Given the description of an element on the screen output the (x, y) to click on. 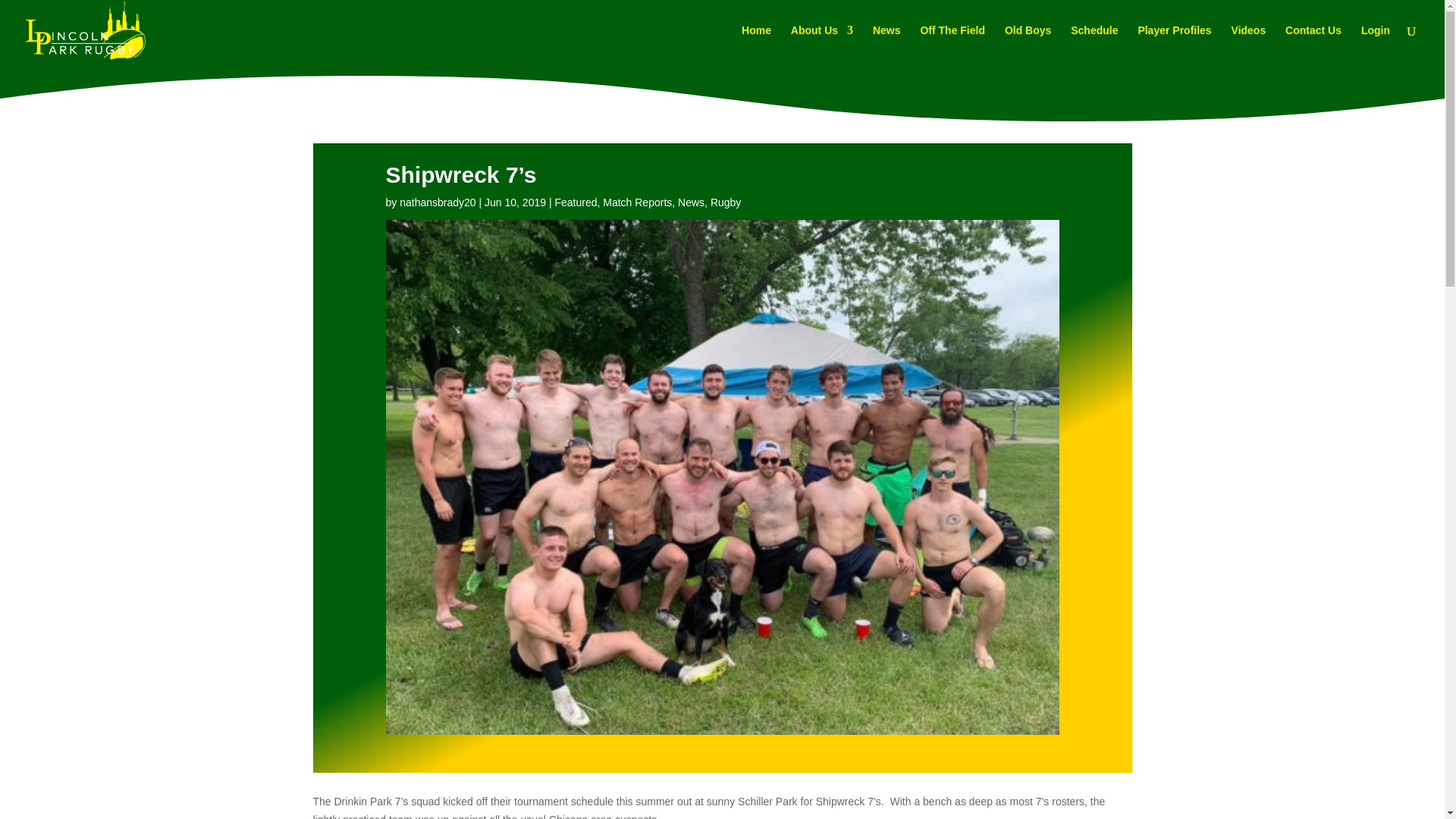
Videos (1248, 42)
Rugby (725, 202)
Off The Field (952, 42)
Posts by nathansbrady20 (437, 202)
Contact Us (1312, 42)
Old Boys (1027, 42)
Featured (575, 202)
nathansbrady20 (437, 202)
About Us (821, 42)
Match Reports (636, 202)
Schedule (1094, 42)
Player Profiles (1174, 42)
News (691, 202)
